Given the description of an element on the screen output the (x, y) to click on. 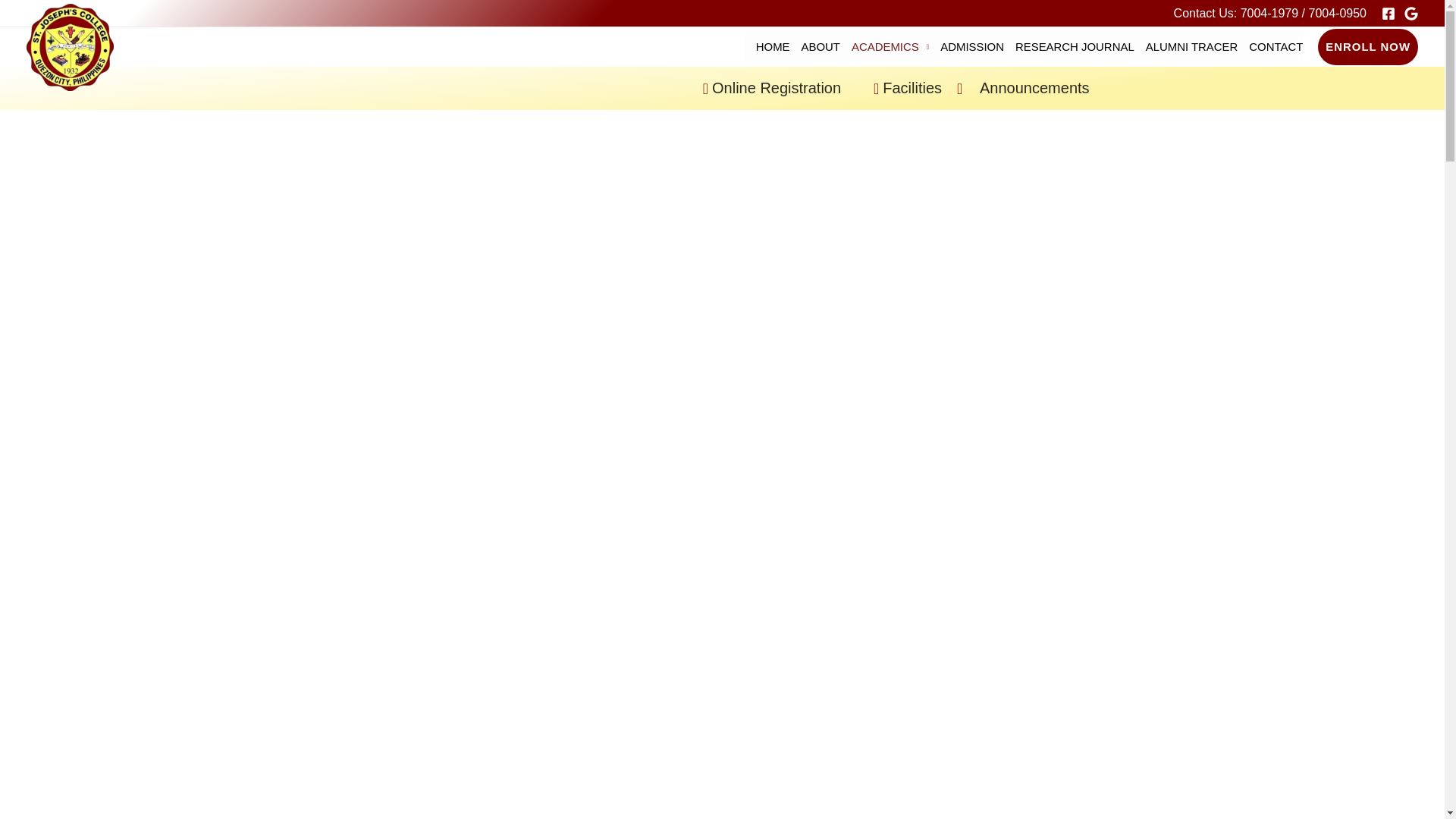
HOME (767, 46)
Facilities (903, 88)
Online Registration (689, 88)
ACADEMICS (884, 46)
ALUMNI TRACER (1186, 46)
ENROLL NOW (1367, 46)
CONTACT (1270, 46)
Announcements (1062, 88)
RESEARCH JOURNAL (1069, 46)
ABOUT (815, 46)
ADMISSION (966, 46)
